Given the description of an element on the screen output the (x, y) to click on. 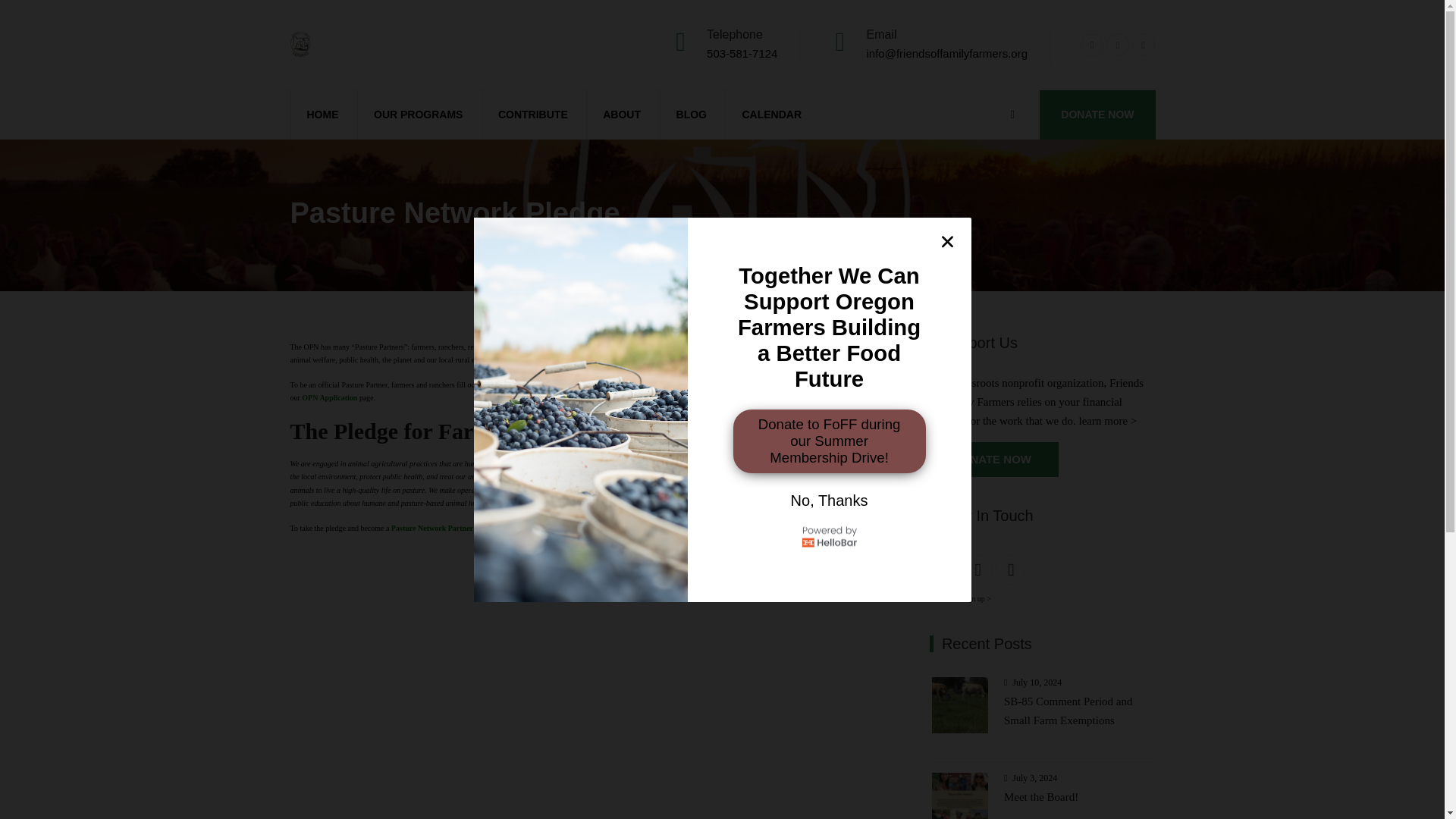
OUR PROGRAMS (418, 113)
CONTRIBUTE (532, 113)
503-581-7124 (741, 52)
CALENDAR (771, 113)
